Given the description of an element on the screen output the (x, y) to click on. 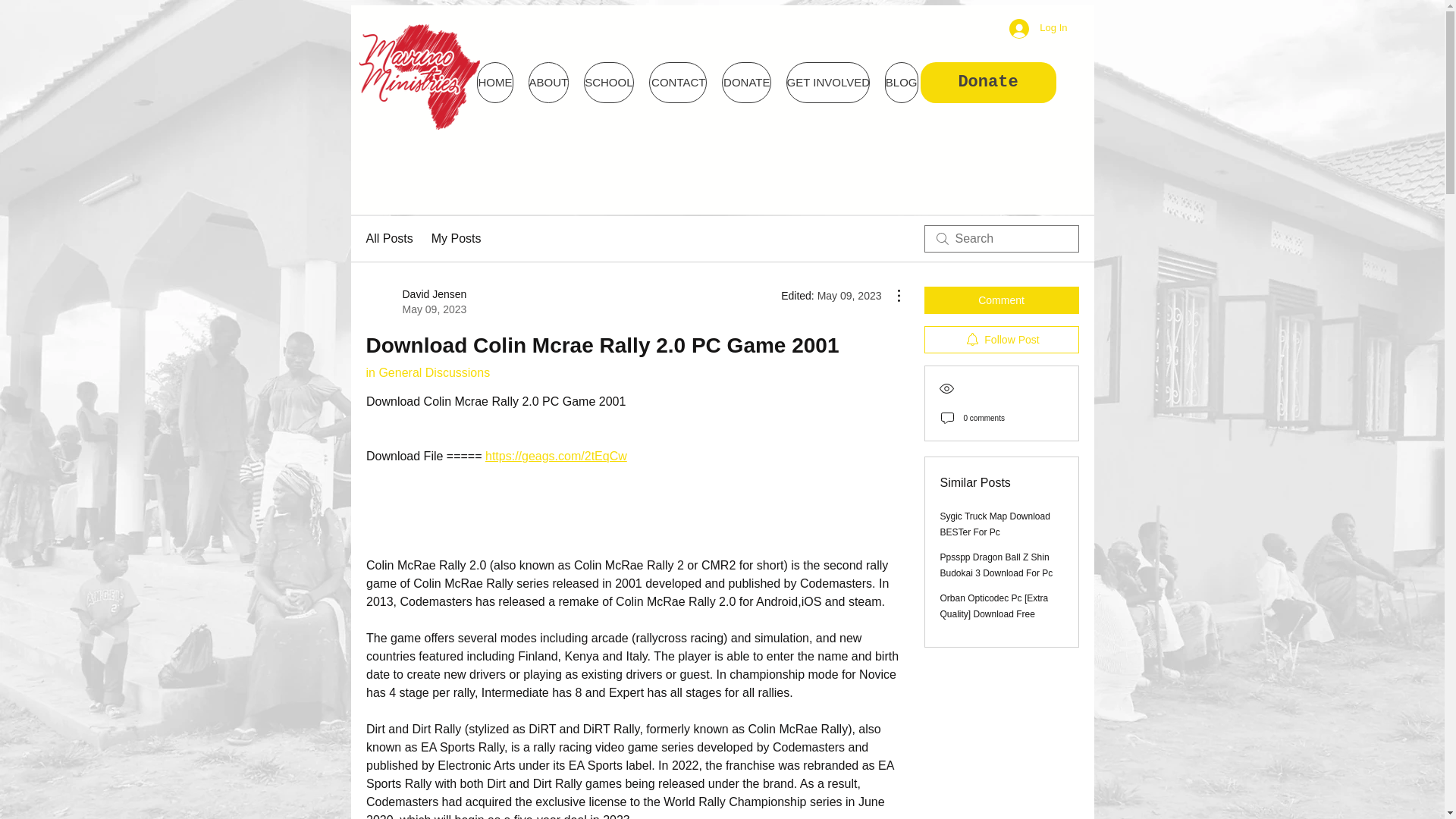
DONATE (415, 301)
Ppsspp Dragon Ball Z Shin Budokai 3 Download For Pc (746, 82)
All Posts (996, 565)
Follow Post (388, 239)
HOME (1000, 338)
My Posts (494, 82)
SCHOOL (455, 239)
CONTACT (608, 82)
Log In (677, 82)
